Given the description of an element on the screen output the (x, y) to click on. 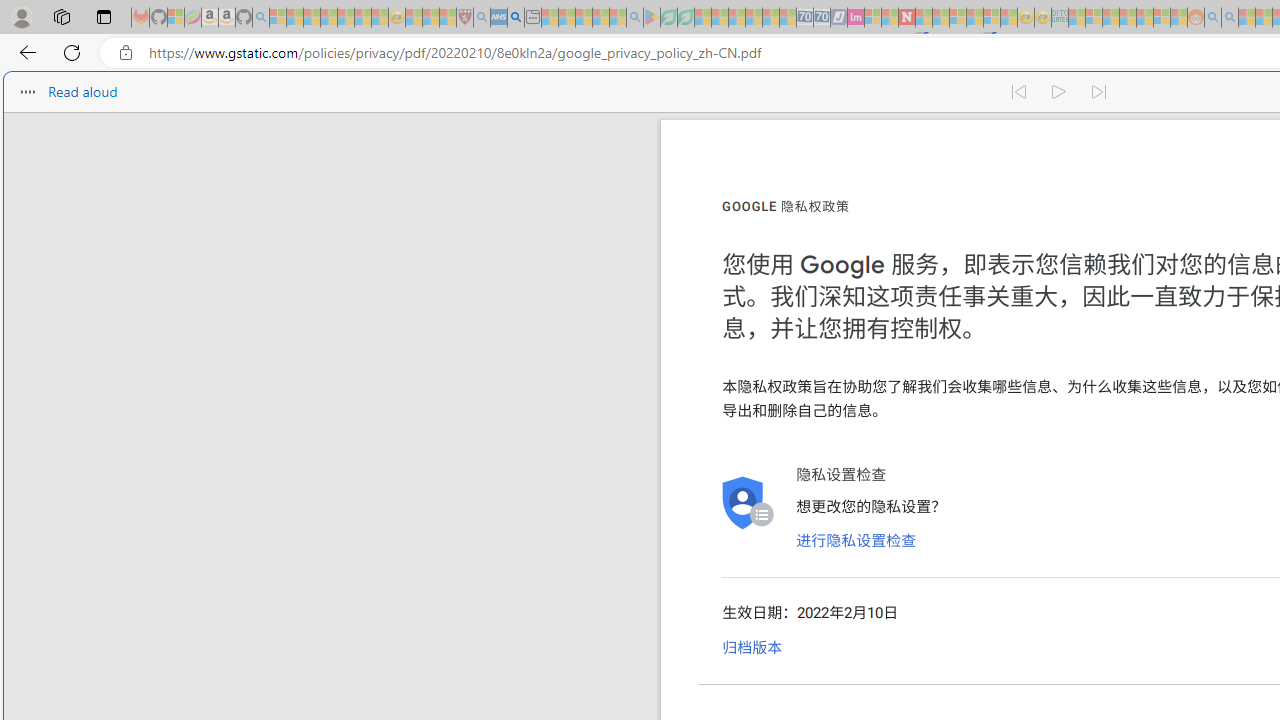
Read next paragraph (1099, 92)
